Given the description of an element on the screen output the (x, y) to click on. 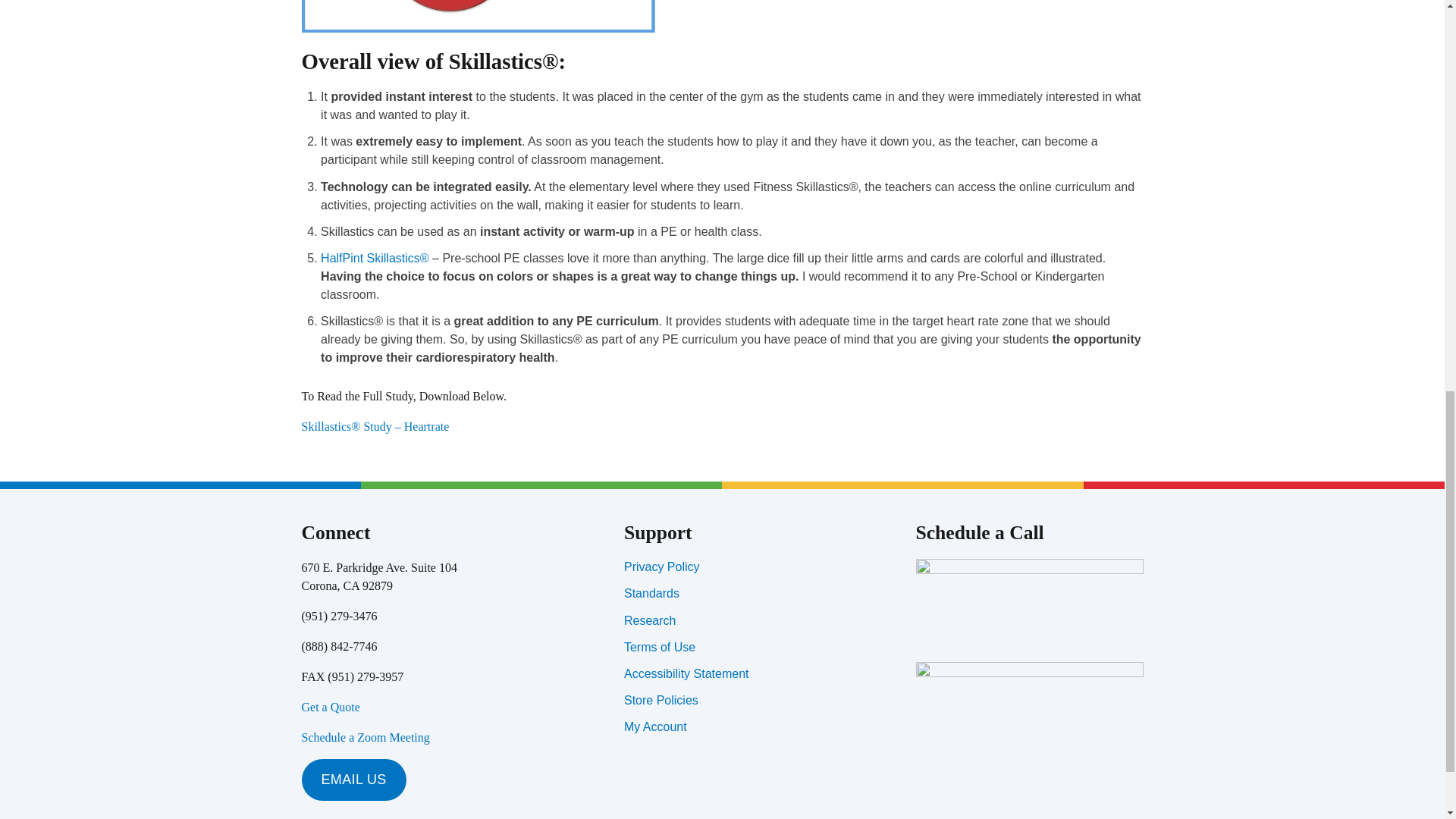
Accessibility Statement (686, 673)
Standards (651, 593)
Store Policies (661, 699)
Research (649, 620)
My Account (655, 726)
Schedule a Zoom Meeting (365, 737)
Privacy Policy (662, 566)
Terms of Use (659, 646)
Get a Quote (330, 707)
EMAIL US (353, 779)
